Given the description of an element on the screen output the (x, y) to click on. 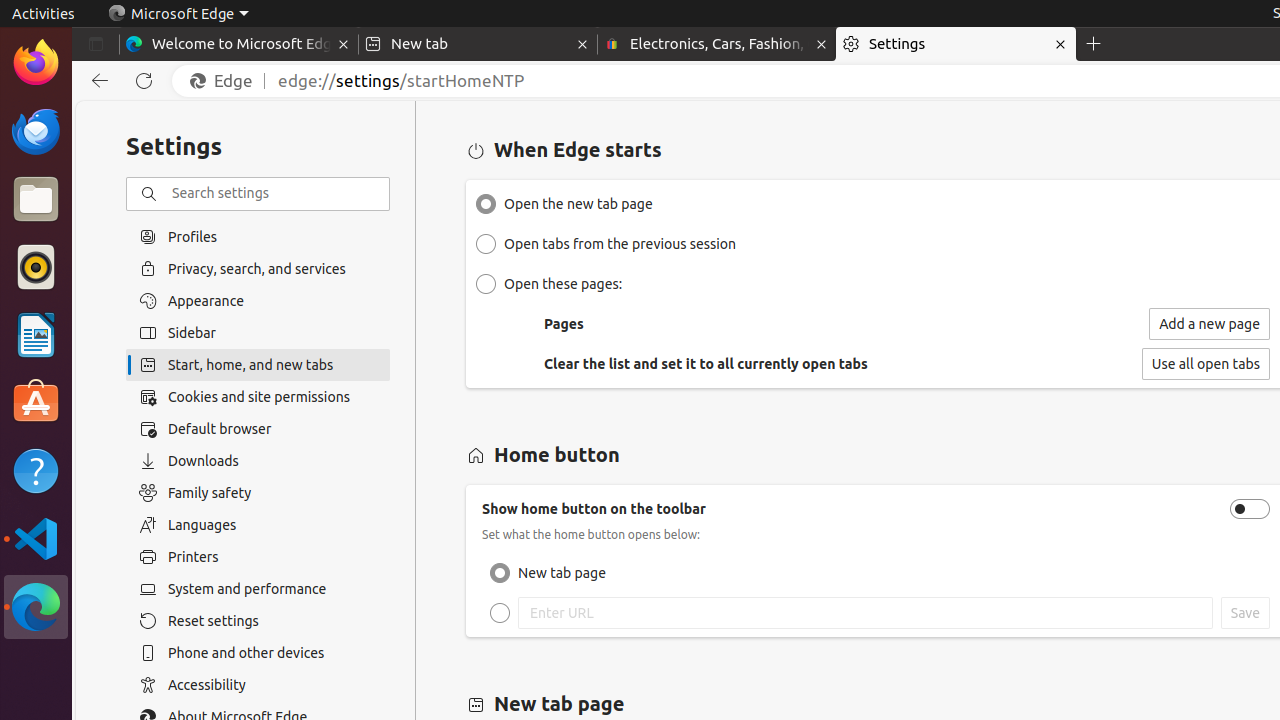
Add a new page Element type: push-button (1209, 324)
Ubuntu Software Element type: push-button (36, 402)
Reset settings Element type: tree-item (258, 621)
Languages Element type: tree-item (258, 525)
Settings Element type: page-tab (956, 44)
